Given the description of an element on the screen output the (x, y) to click on. 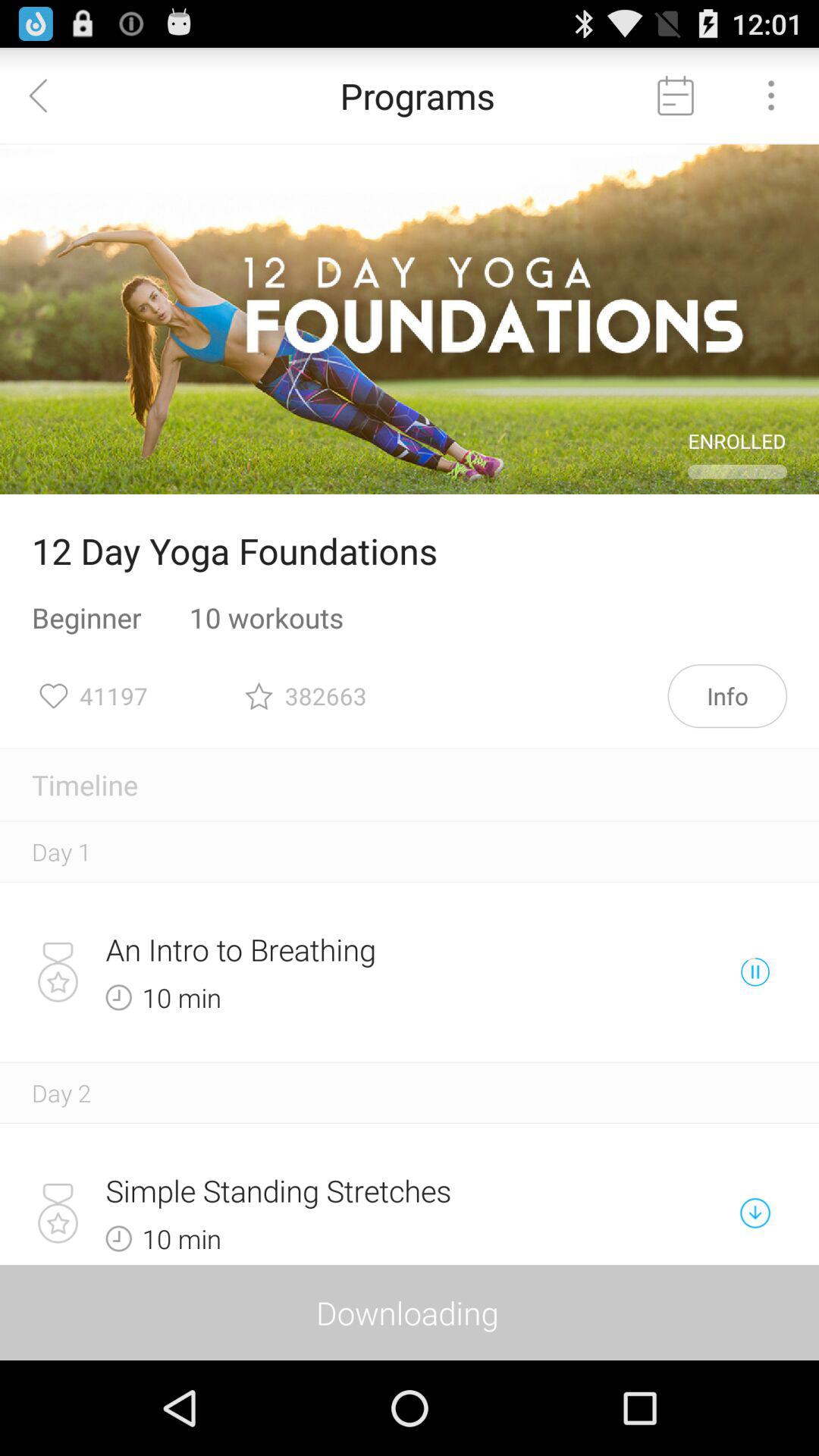
tap the item above 10 min item (356, 949)
